Given the description of an element on the screen output the (x, y) to click on. 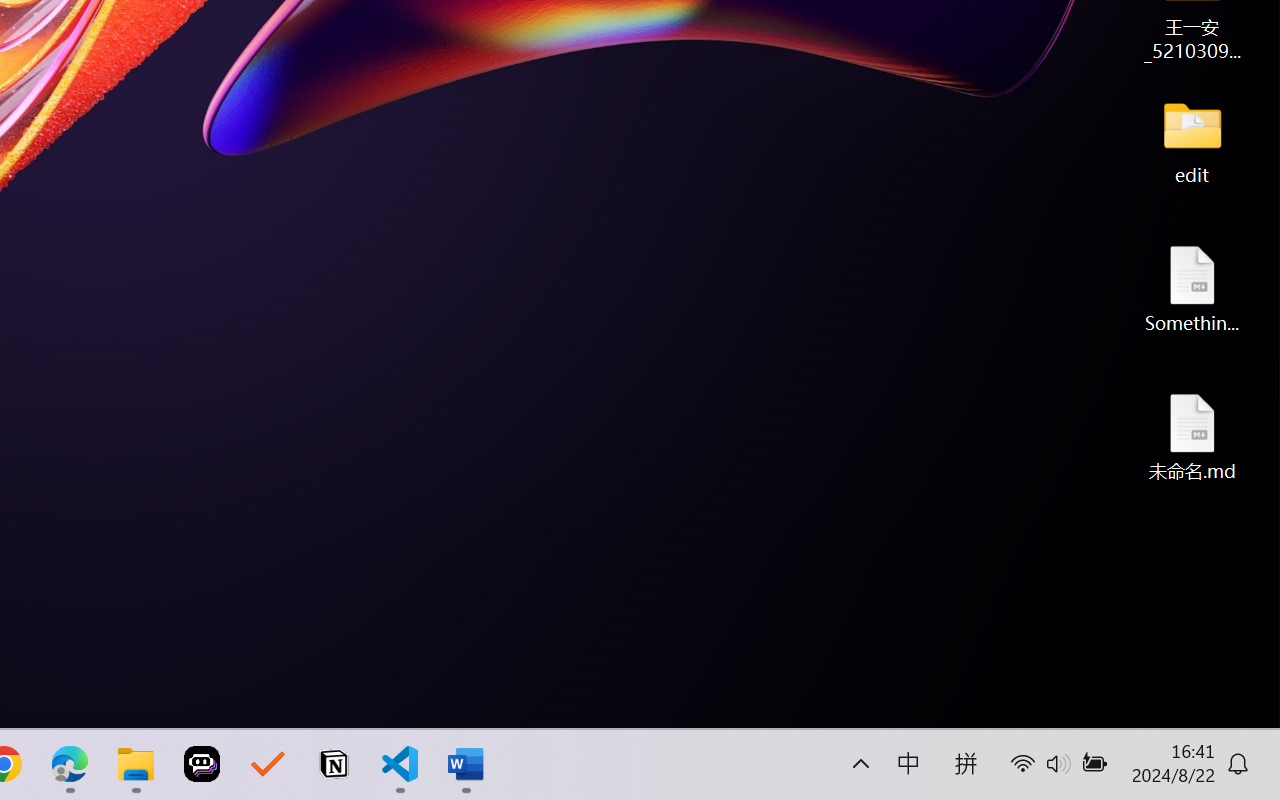
edit (1192, 140)
